Given the description of an element on the screen output the (x, y) to click on. 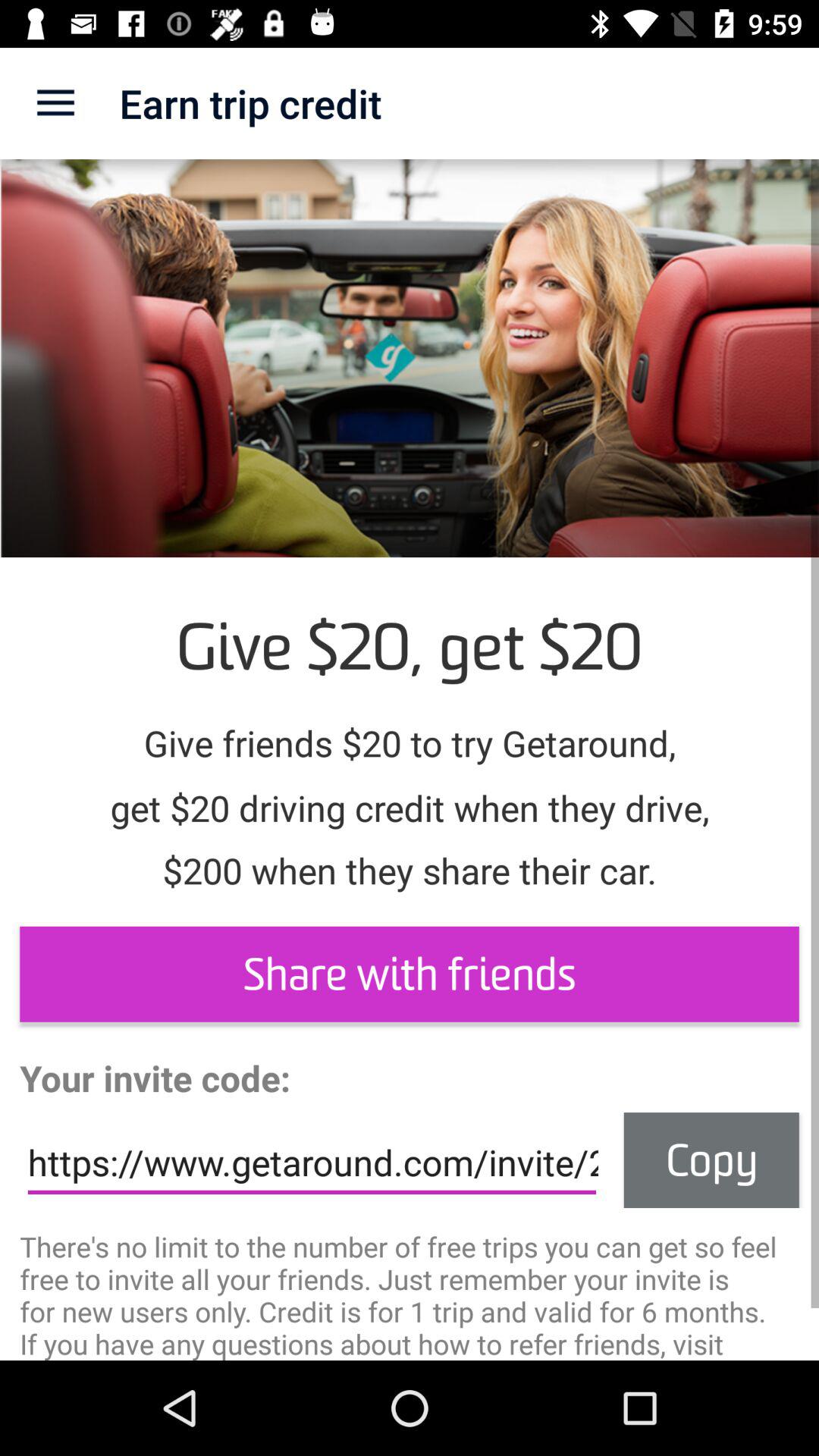
turn off the app to the left of earn trip credit (55, 103)
